Given the description of an element on the screen output the (x, y) to click on. 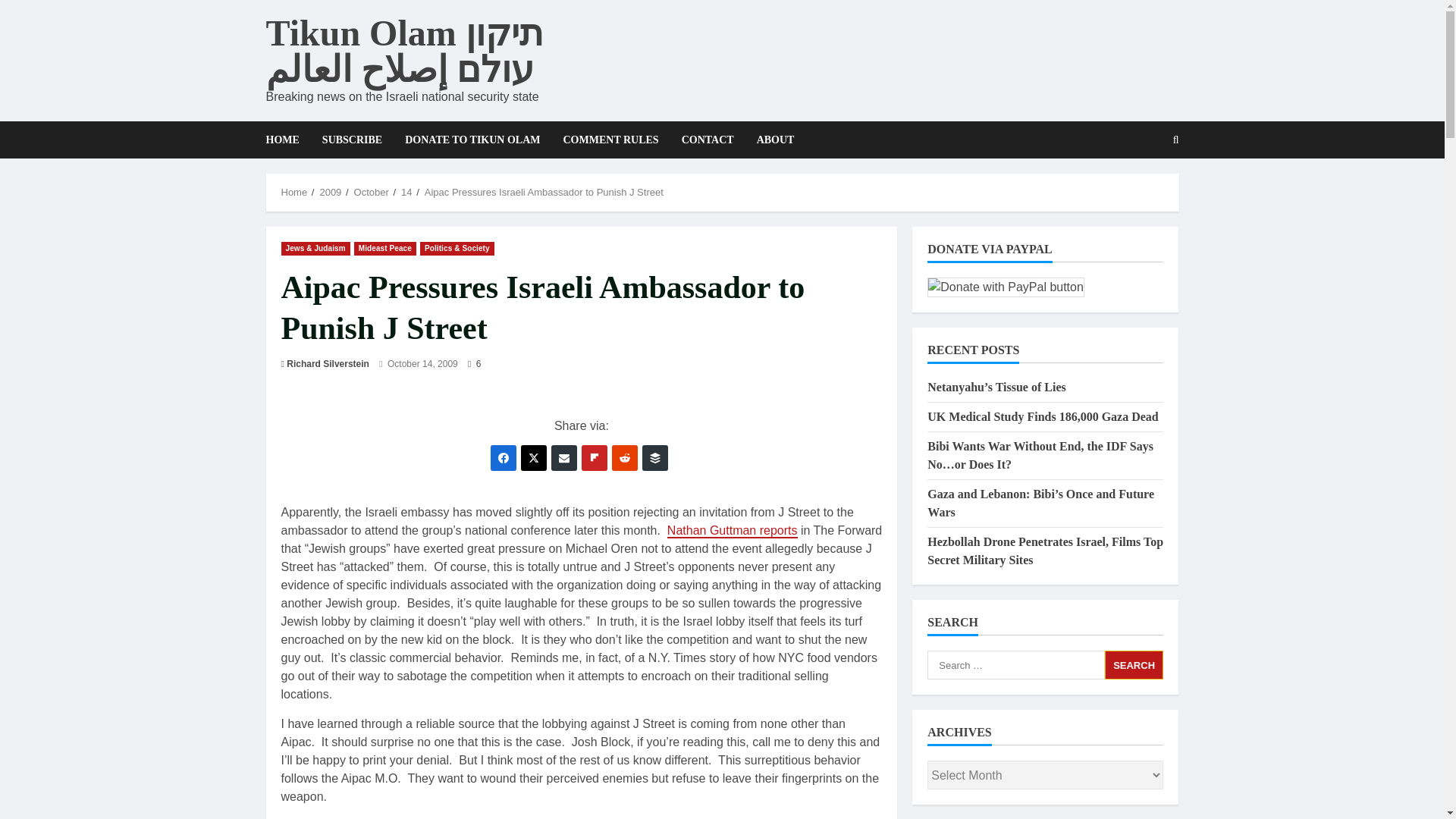
SUBSCRIBE (352, 139)
CONTACT (707, 139)
2009 (329, 192)
Search (1176, 139)
Home (294, 192)
6 (473, 364)
ABOUT (769, 139)
COMMENT RULES (610, 139)
Search (1139, 191)
Search (1134, 664)
October (370, 192)
Search (1134, 664)
Nathan Guttman reports (731, 531)
Mideast Peace (384, 247)
PayPal - The safer, easier way to pay online! (1005, 287)
